Given the description of an element on the screen output the (x, y) to click on. 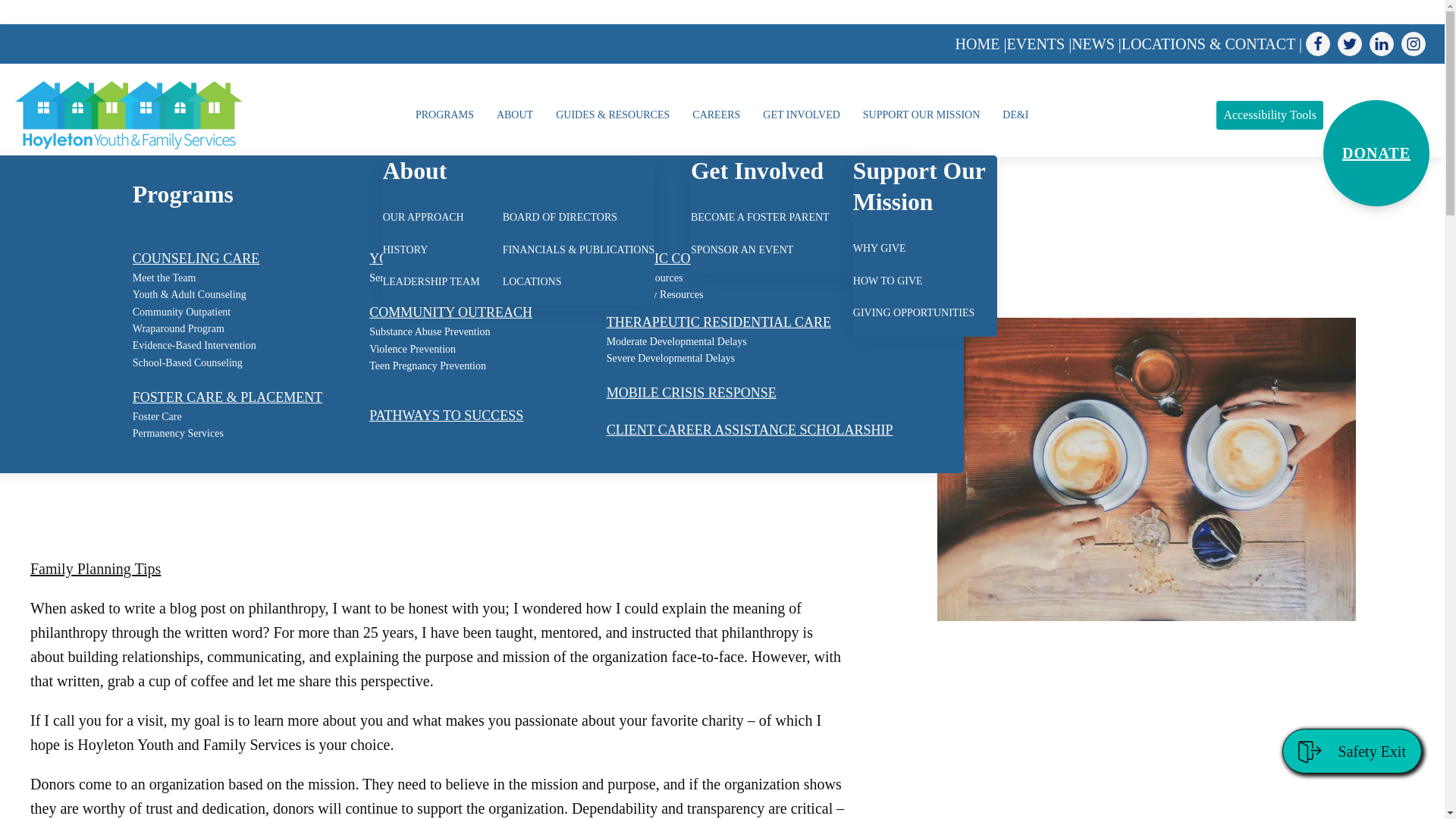
Wraparound Program (178, 329)
Meet the Team (164, 278)
Community Outpatient (181, 312)
Substance Abuse Prevention (429, 331)
Community Resources (655, 294)
Family Resources (644, 278)
THERAPEUTIC RESIDENTIAL CARE (719, 322)
HISTORY (405, 249)
Foster Care (157, 416)
LOCATIONS (532, 281)
